Given the description of an element on the screen output the (x, y) to click on. 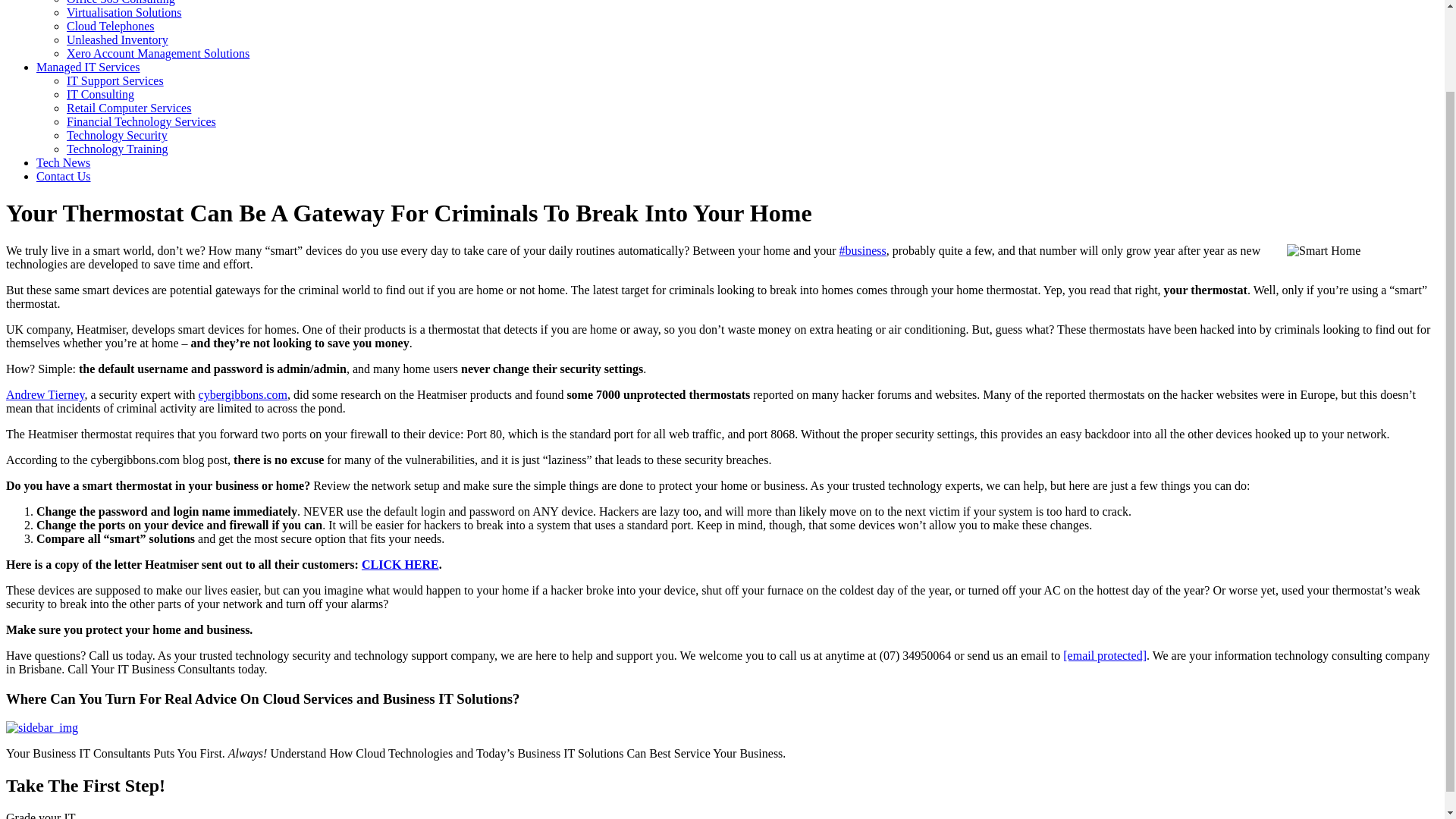
Office 365 Consulting (120, 2)
Xero Account Management Solutions (157, 52)
Managed IT Services (87, 66)
IT Support Services (114, 80)
Contact Us (63, 175)
Virtualisation Solutions (123, 11)
Technology Security (116, 134)
Unleashed Inventory (117, 39)
cybergibbons.com (242, 394)
Financial Technology Services (140, 121)
